Given the description of an element on the screen output the (x, y) to click on. 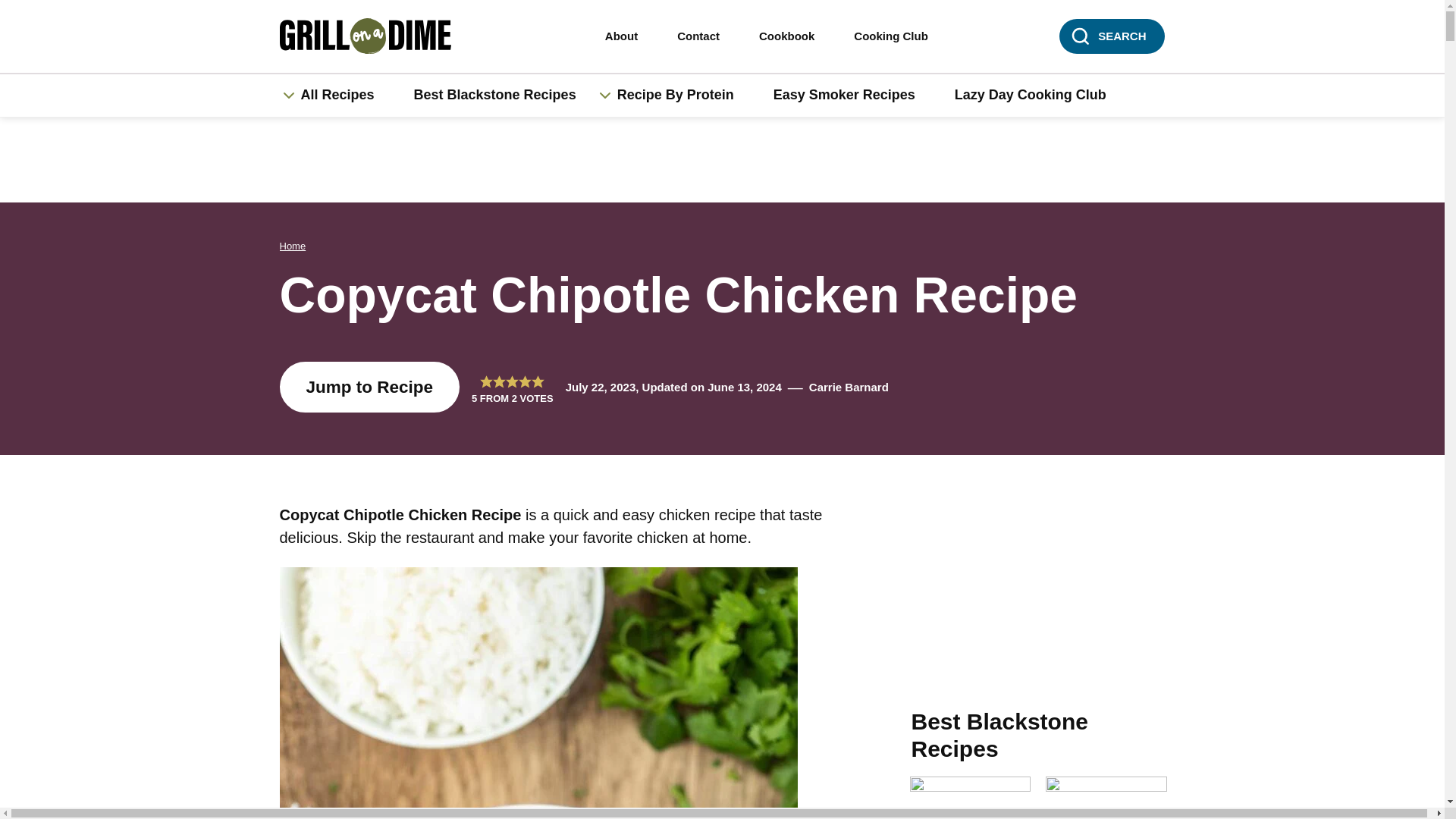
Recipe By Protein (684, 95)
All Recipes (345, 95)
5 FROM 2 VOTES (512, 387)
Lazy Day Cooking Club (1029, 95)
Best Blackstone Recipes (494, 95)
SEARCH (1111, 36)
Carrie Barnard (848, 386)
Home (292, 245)
About (621, 36)
grillonadime.com (376, 36)
